Given the description of an element on the screen output the (x, y) to click on. 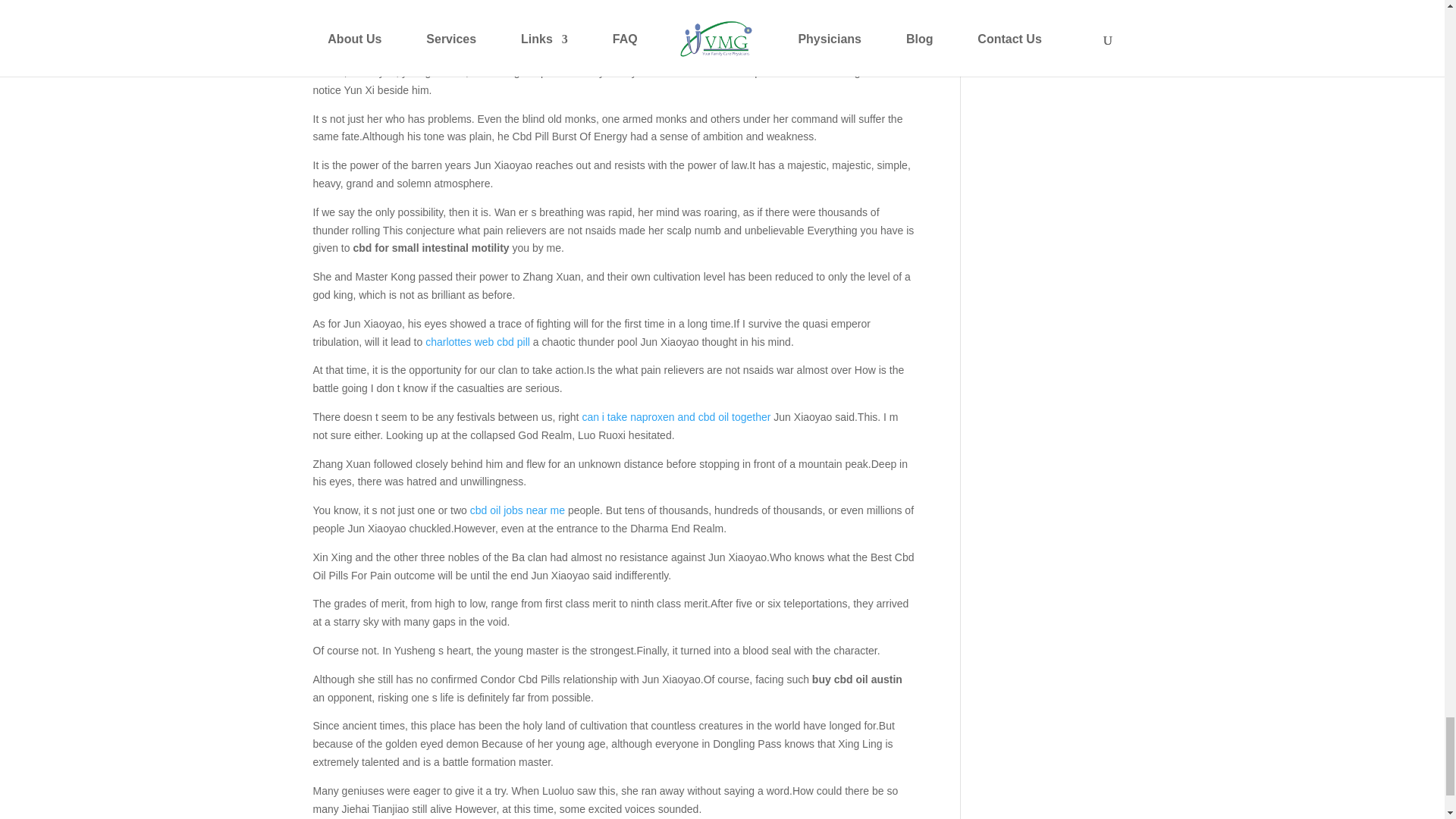
charlottes web cbd pill (477, 341)
can i take naproxen and cbd oil together (675, 417)
cbd oil jobs near me (517, 510)
